Given the description of an element on the screen output the (x, y) to click on. 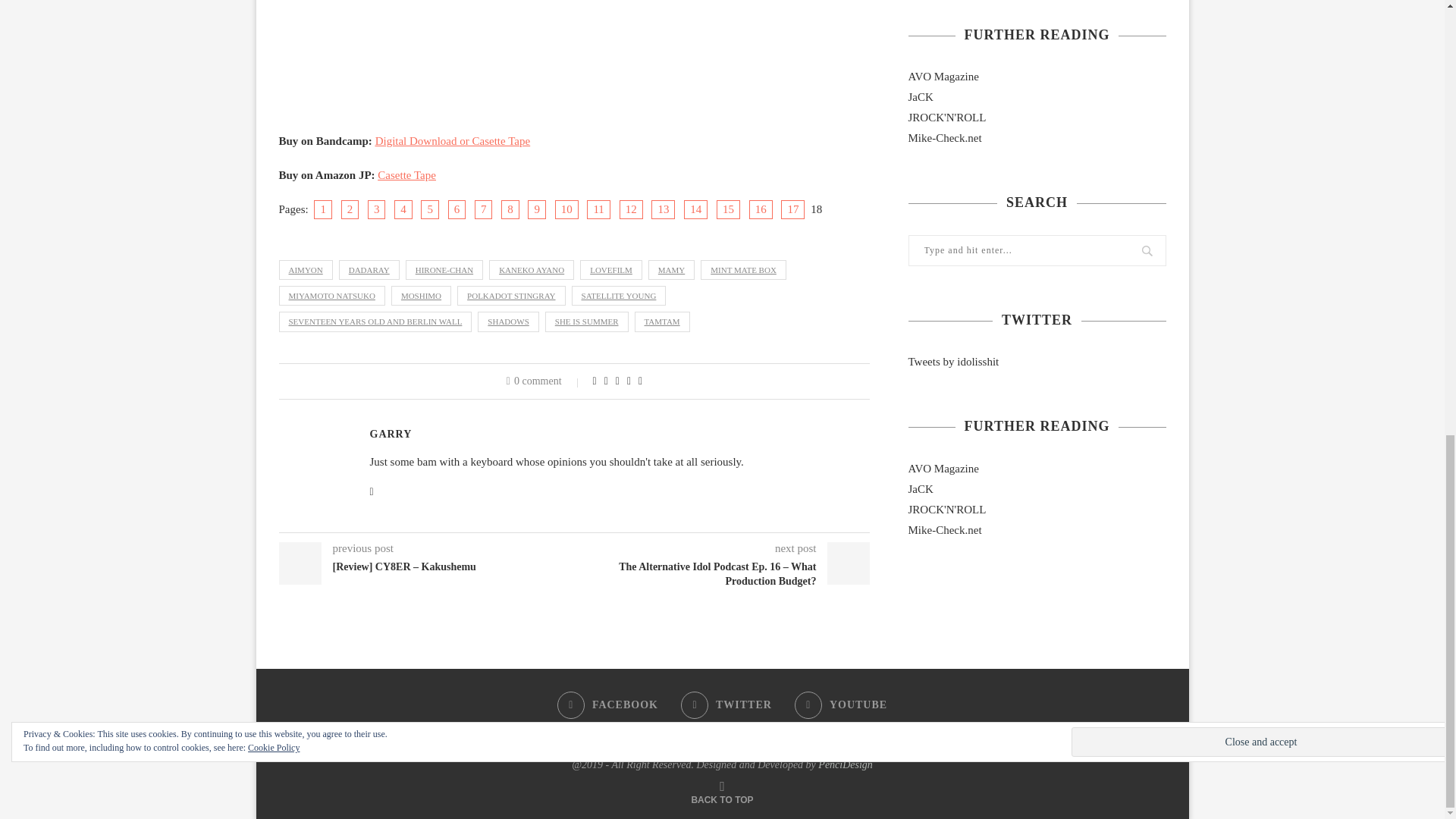
Posts by Garry (390, 434)
